Given the description of an element on the screen output the (x, y) to click on. 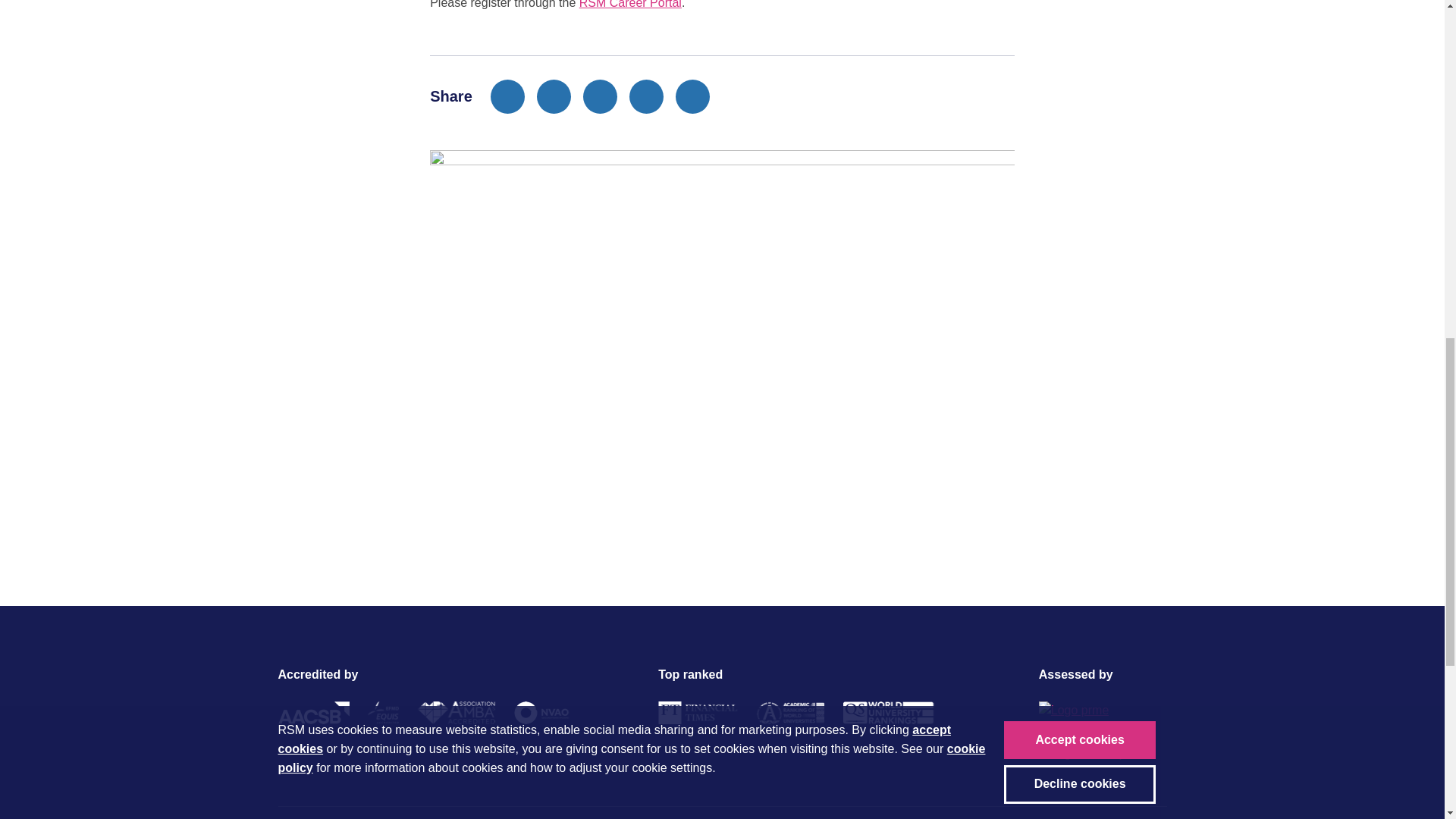
Email this (645, 96)
Share this on Twitter (553, 96)
Share this on Facebook (507, 96)
Share this on LinkedIn (600, 96)
